Given the description of an element on the screen output the (x, y) to click on. 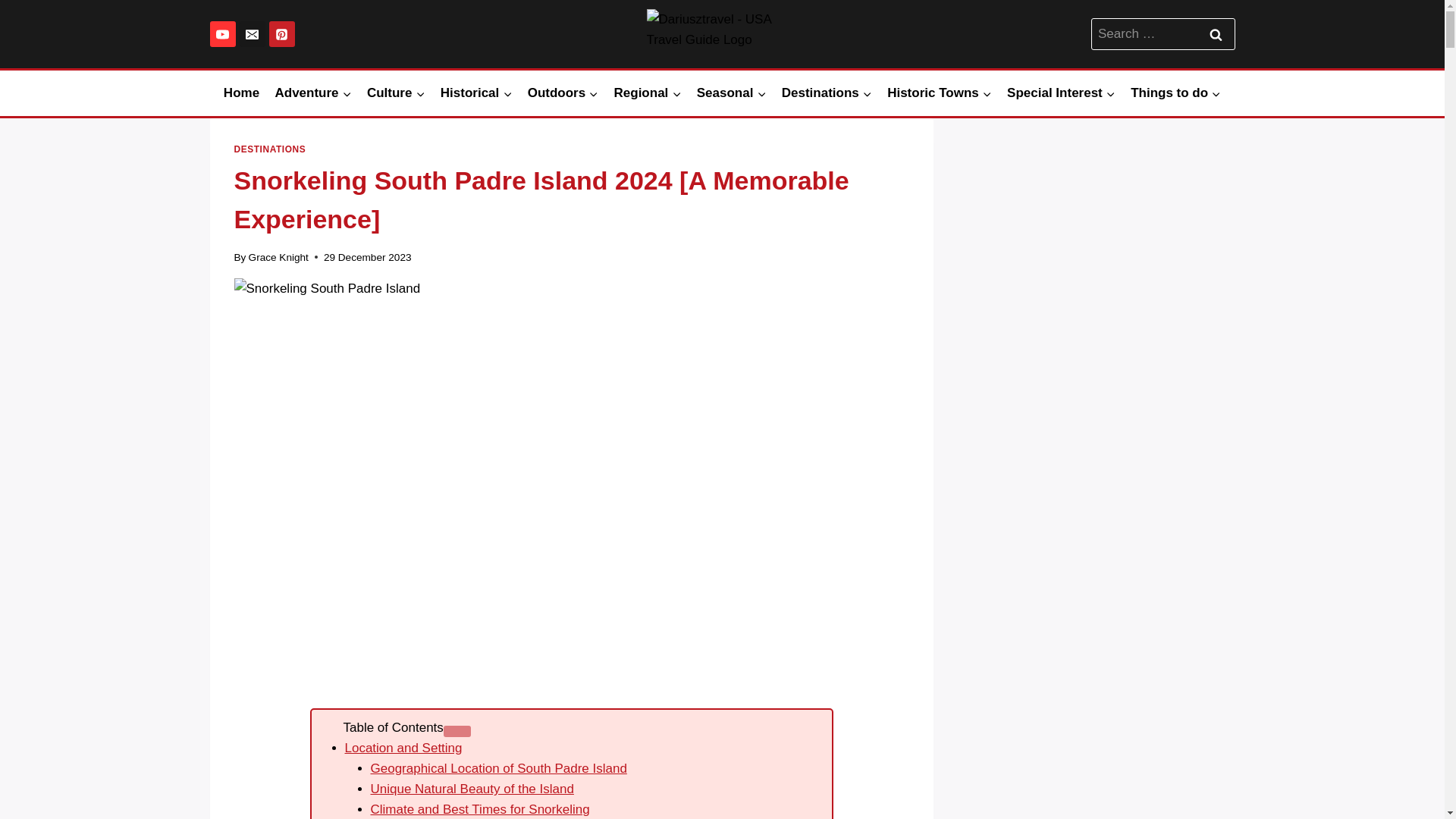
Outdoors (562, 93)
Search (1215, 34)
Home (241, 93)
Historical (475, 93)
Culture (395, 93)
Adventure (312, 93)
Search (1215, 34)
Search (1215, 34)
